Given the description of an element on the screen output the (x, y) to click on. 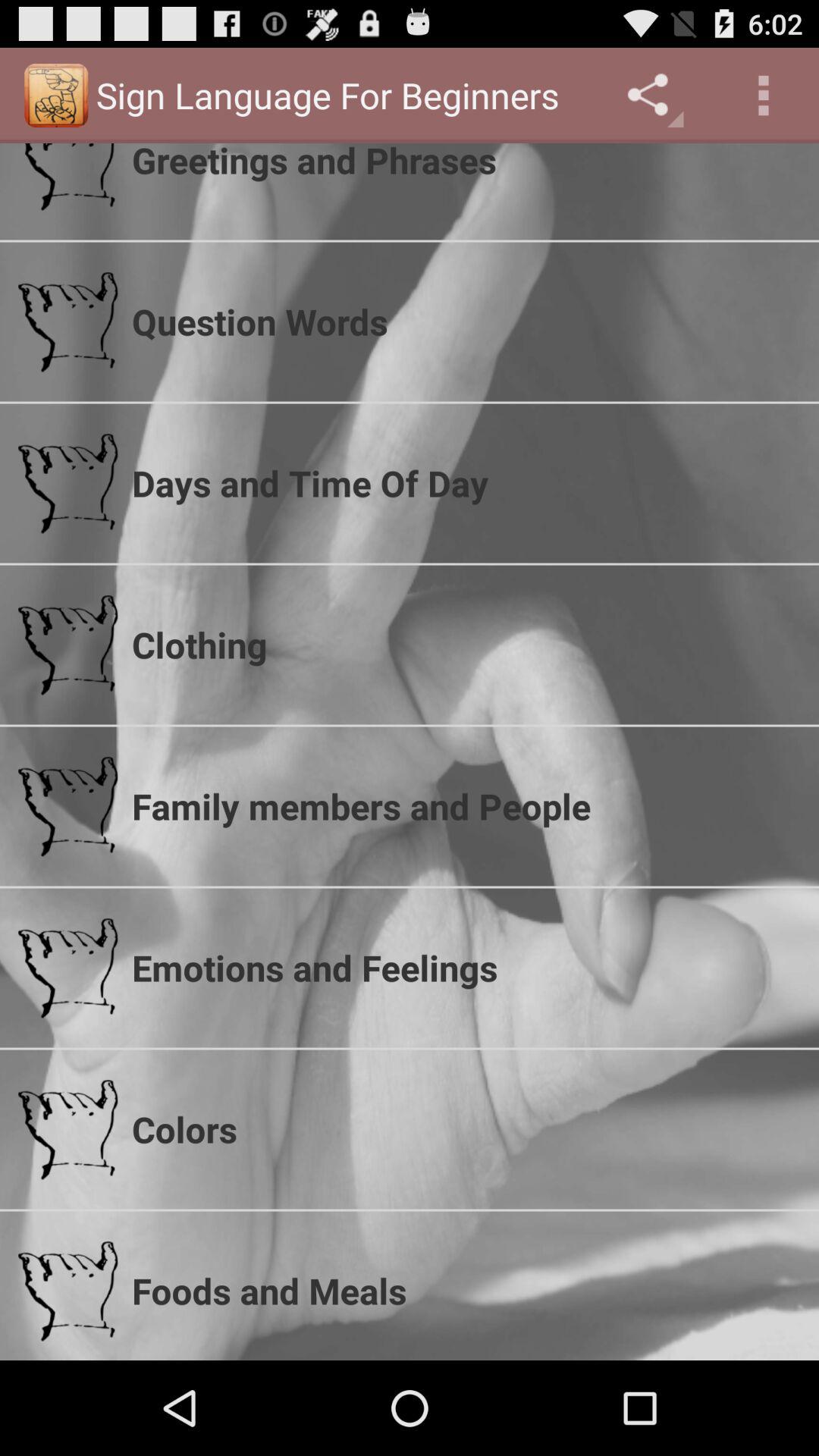
turn off emotions and feelings app (465, 967)
